Given the description of an element on the screen output the (x, y) to click on. 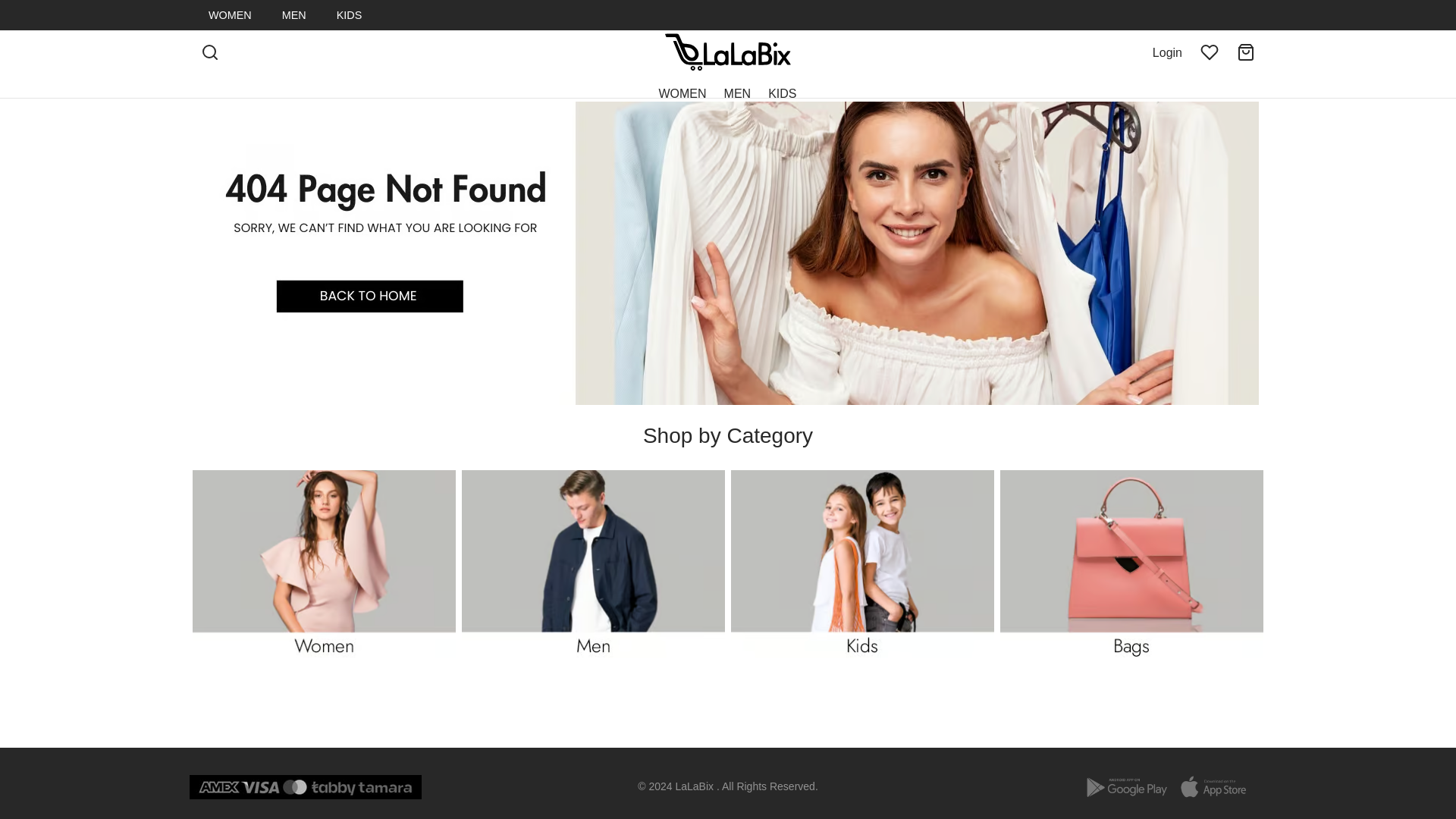
KIDS (782, 93)
MEN (737, 93)
MEN (294, 15)
WOMEN (229, 15)
WOMEN (682, 93)
Login (1167, 52)
KIDS (349, 15)
